Given the description of an element on the screen output the (x, y) to click on. 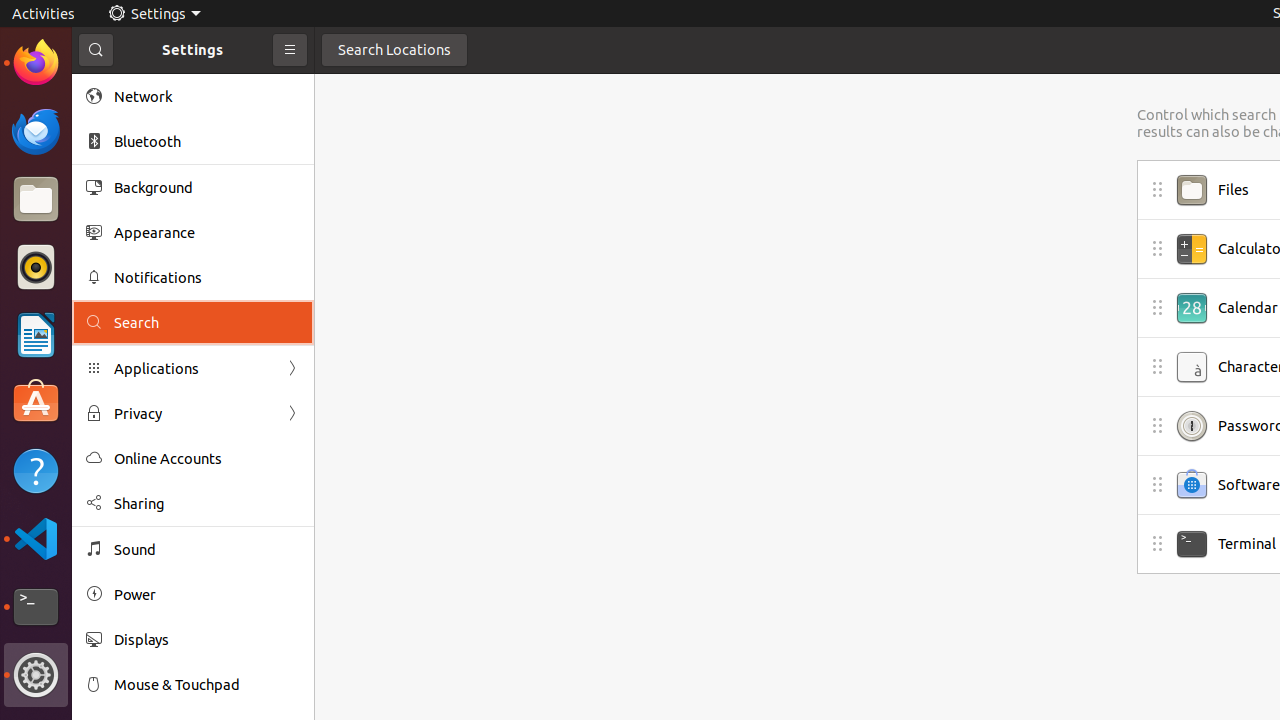
Search Locations Element type: push-button (394, 50)
Privacy Element type: label (193, 413)
Applications Element type: label (193, 368)
Primary Menu Element type: toggle-button (290, 50)
